Given the description of an element on the screen output the (x, y) to click on. 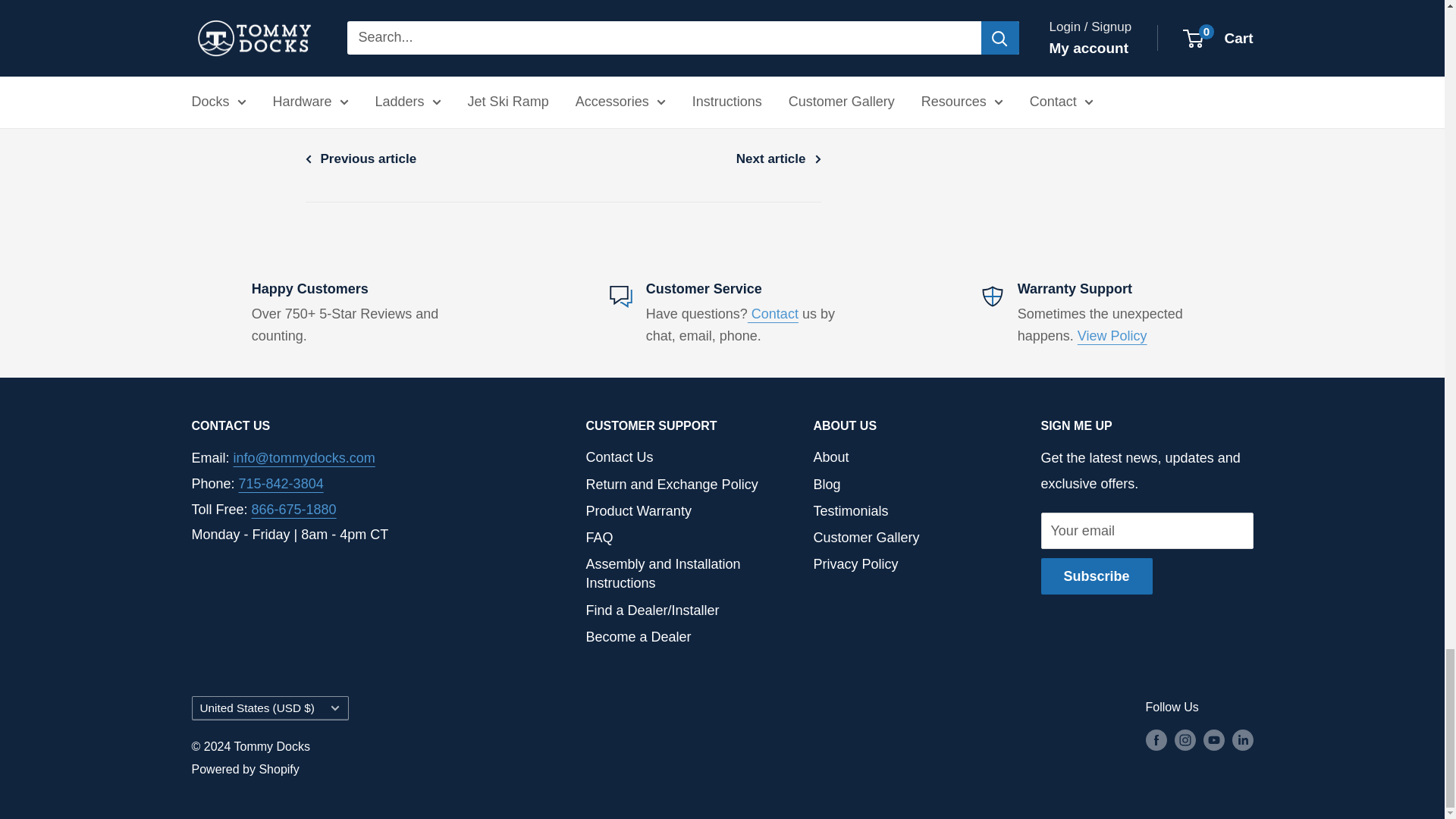
tel:715-842-3804 (280, 483)
Policies (1112, 335)
Contact Us (772, 313)
tel: 866-675-1880 (293, 509)
